Given the description of an element on the screen output the (x, y) to click on. 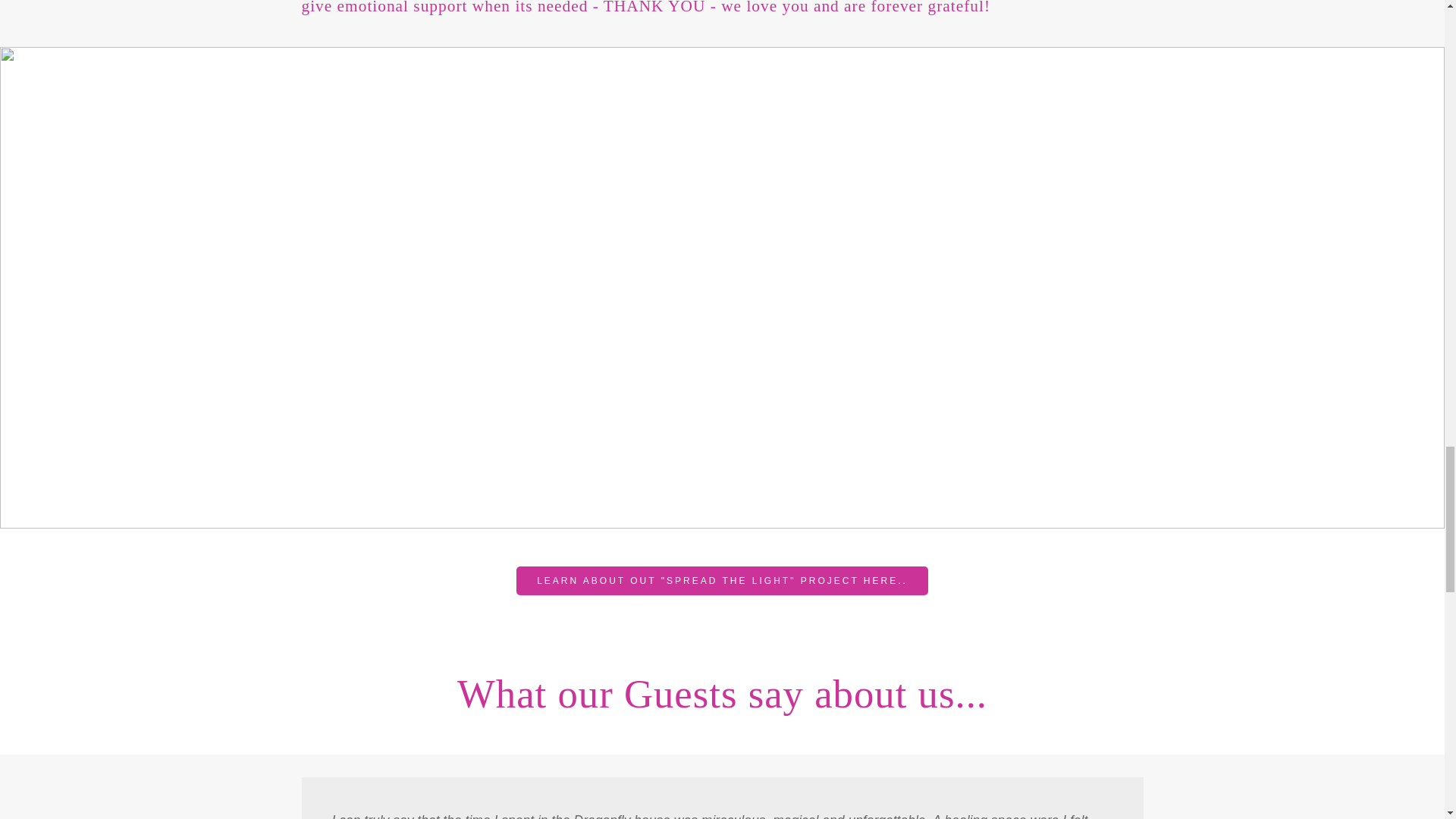
LEARN ABOUT OUT "SPREAD THE LIGHT" PROJECT HERE.. (722, 580)
